Given the description of an element on the screen output the (x, y) to click on. 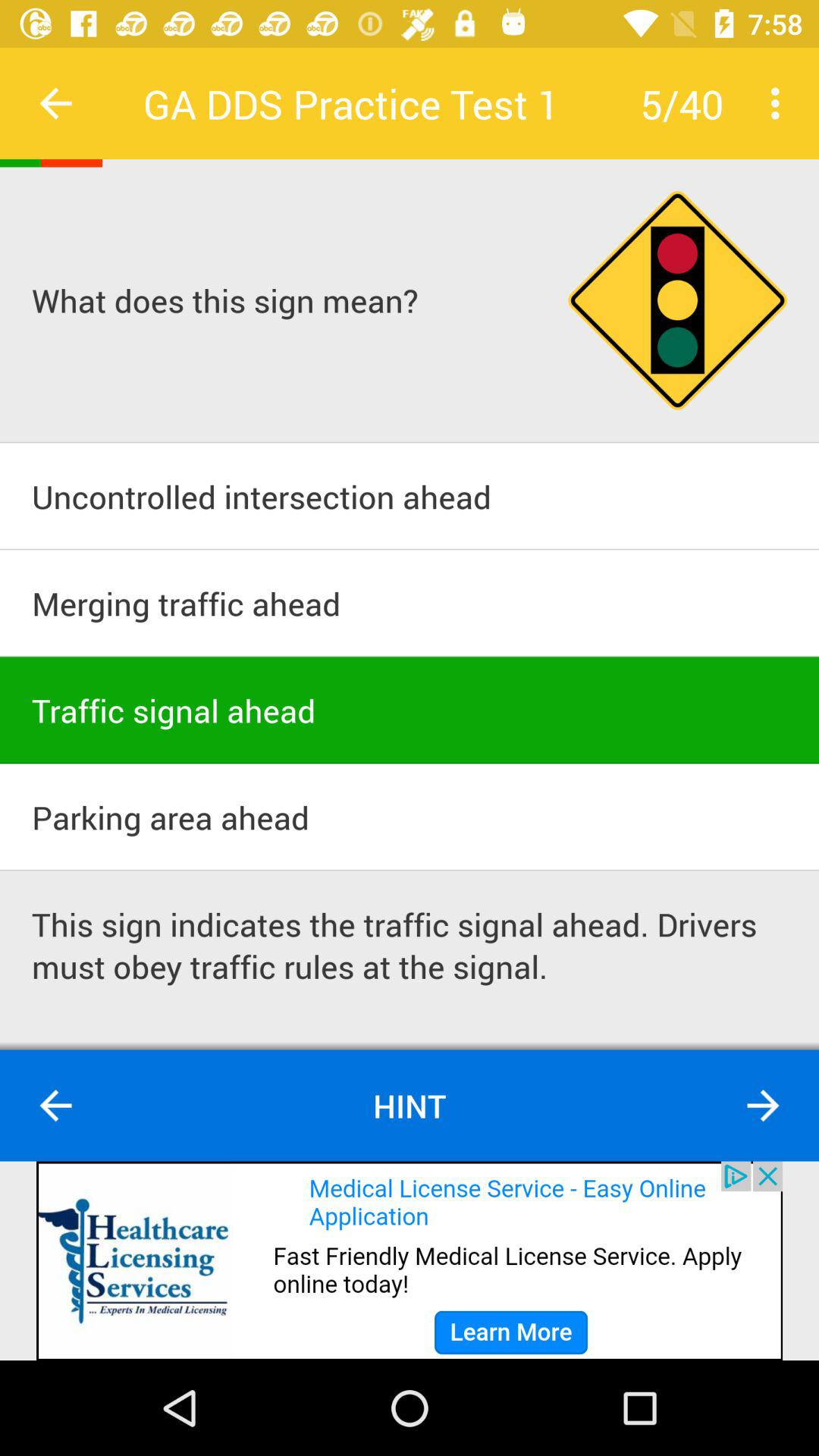
go to previous (55, 1105)
